Given the description of an element on the screen output the (x, y) to click on. 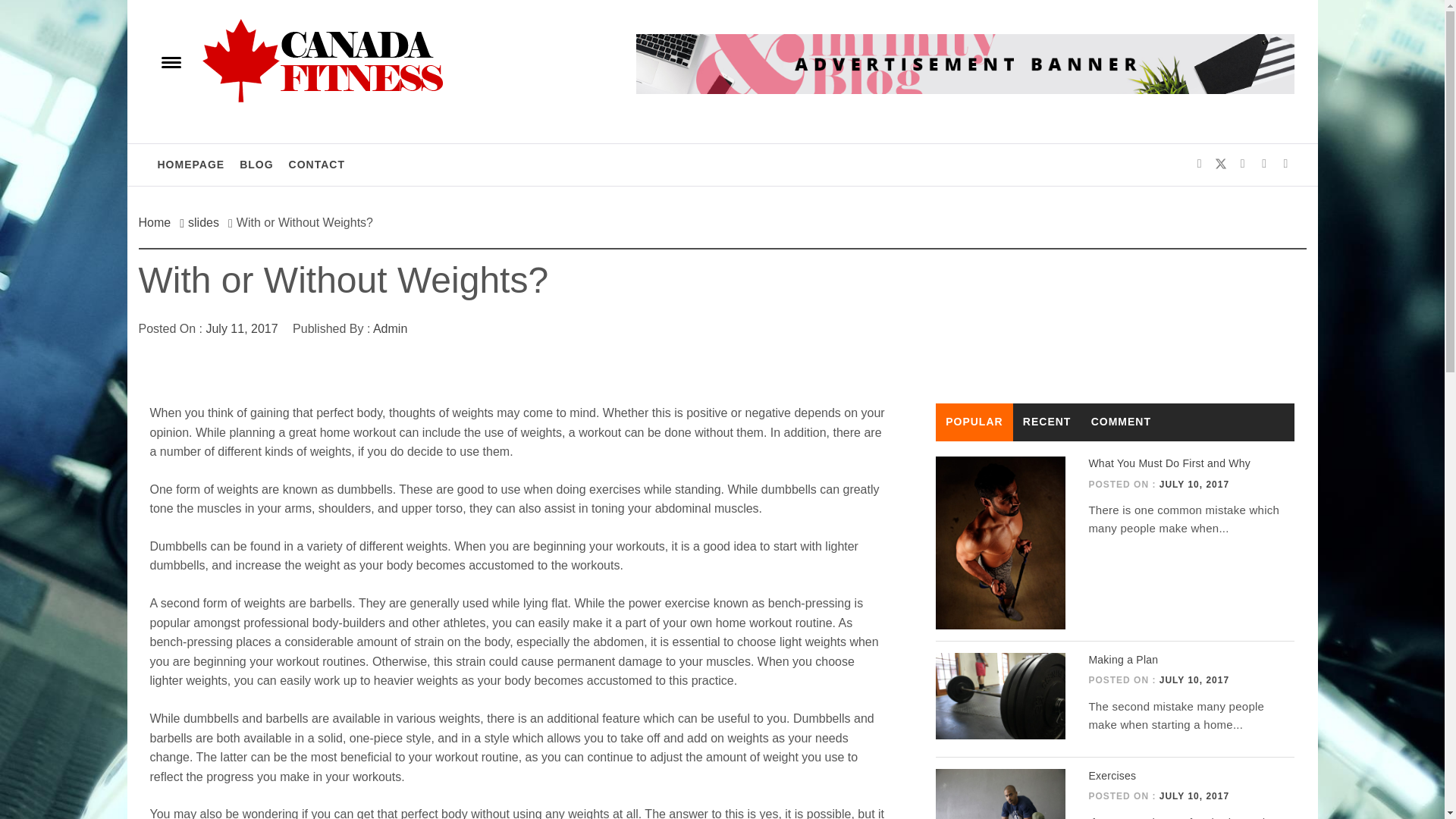
POPULAR (974, 422)
Exercises (1111, 775)
BLOG (256, 164)
JULY 10, 2017 (1193, 484)
HOMEPAGE (190, 164)
CONTACT (316, 164)
RECENT (1047, 422)
Canada Fitness (259, 38)
JULY 10, 2017 (1193, 679)
Making a Plan (1122, 659)
Home (158, 222)
slides (203, 222)
What You Must Do First and Why (1168, 463)
COMMENT (1121, 422)
JULY 10, 2017 (1193, 796)
